Given the description of an element on the screen output the (x, y) to click on. 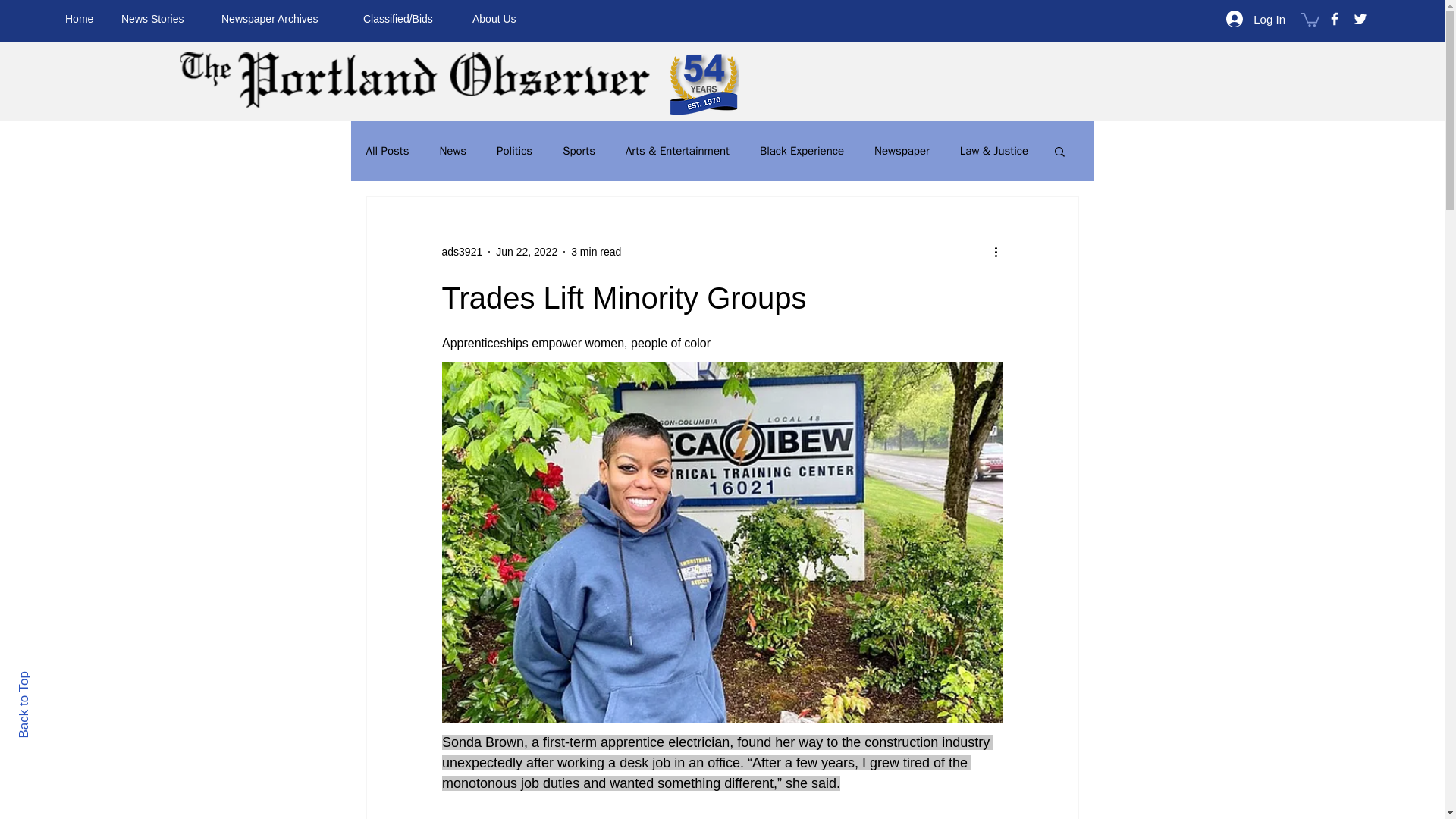
Home (81, 18)
Log In (1255, 18)
Newspaper Archives (280, 18)
Politics (514, 151)
About Us (499, 18)
ads3921 (461, 252)
Black Experience (802, 151)
3 min read (595, 251)
All Posts (387, 151)
Jun 22, 2022 (526, 251)
